Given the description of an element on the screen output the (x, y) to click on. 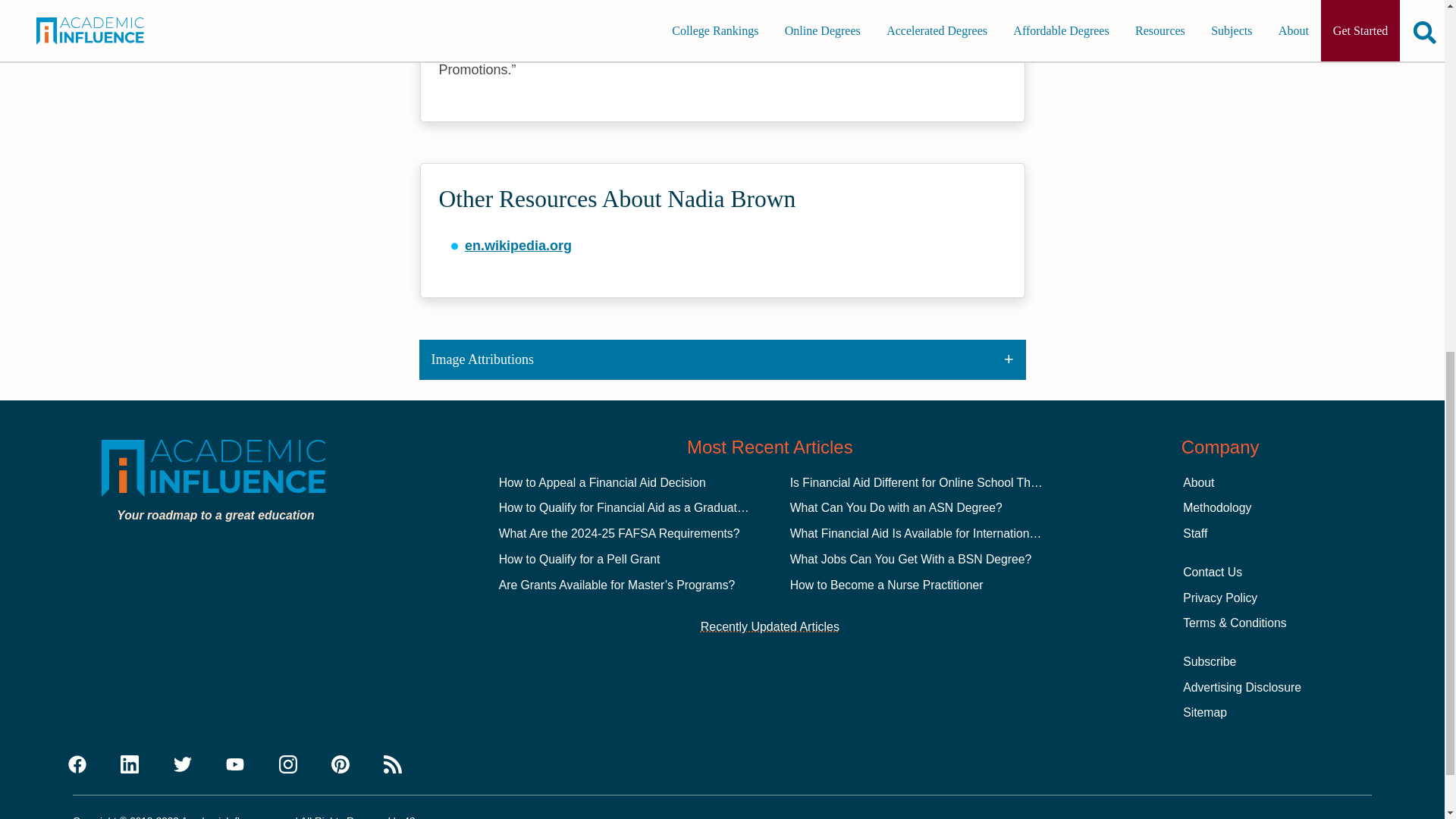
About (1198, 481)
What Can You Do with an ASN Degree? (896, 507)
How to Qualify for a Pell Grant (580, 558)
Is Financial Aid Different for Online School Than In-Person? (947, 481)
Sitemap (1204, 712)
How to Become a Nurse Practitioner (887, 584)
According to Wikipedia (513, 7)
What Financial Aid Is Available for International Students? (943, 533)
Recently Updated Articles (770, 627)
Methodology (1216, 507)
